Given the description of an element on the screen output the (x, y) to click on. 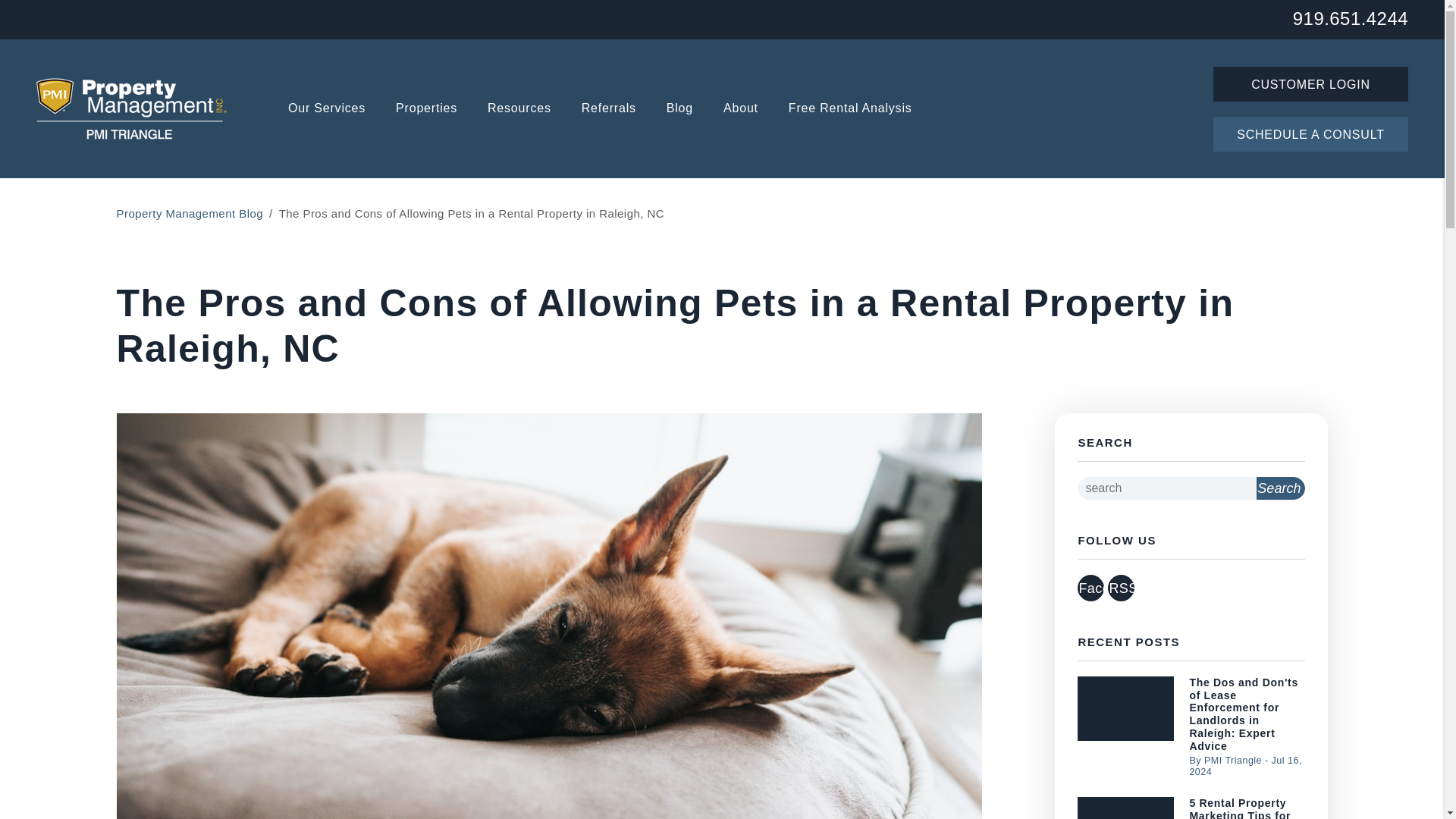
Referrals (608, 108)
opens in a new window (1121, 587)
About (740, 108)
Our Services (326, 108)
Free Rental Analysis (850, 108)
Resources (519, 108)
SCHEDULE A CONSULT (1309, 134)
At least 3 characters (1166, 487)
CUSTOMER LOGIN (1309, 83)
Properties (426, 108)
Blog (679, 108)
919.651.4244 (1349, 17)
opens in a new window (1090, 587)
